Given the description of an element on the screen output the (x, y) to click on. 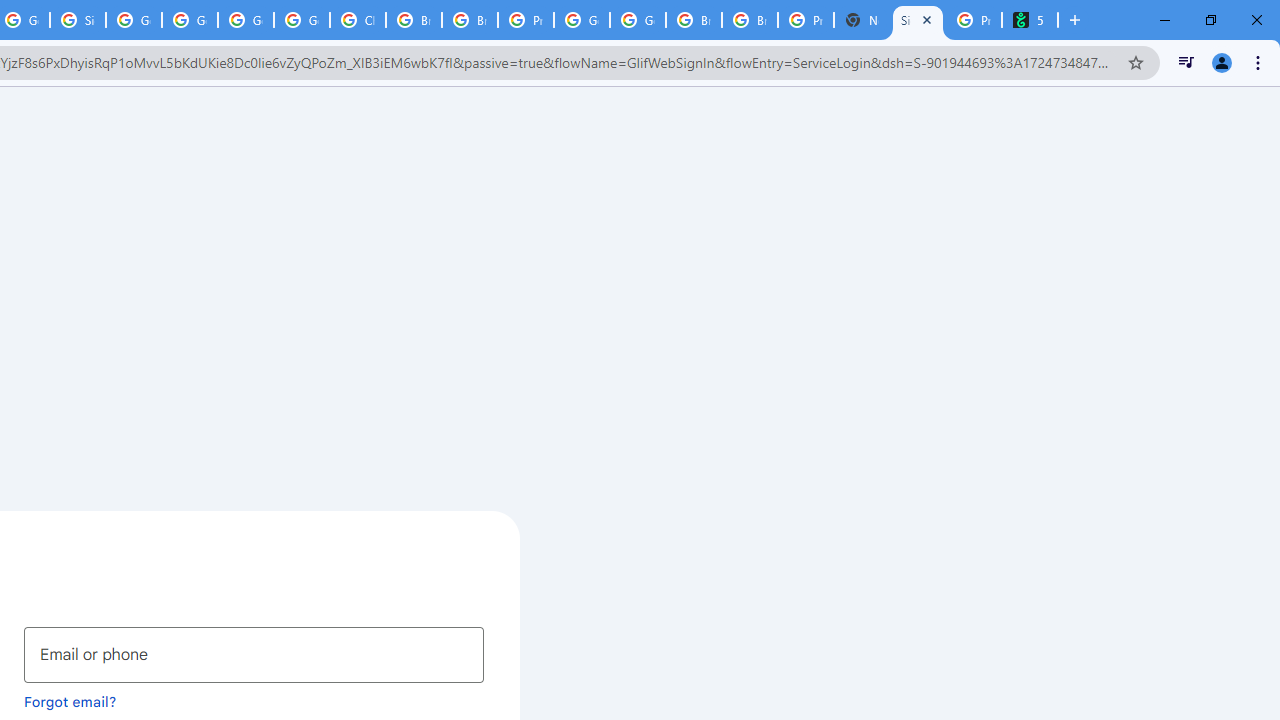
Browse Chrome as a guest - Computer - Google Chrome Help (413, 20)
New Tab (861, 20)
Google Cloud Platform (245, 20)
Email or phone (253, 654)
Browse Chrome as a guest - Computer - Google Chrome Help (693, 20)
Forgot email? (70, 701)
Google Cloud Platform (582, 20)
